Given the description of an element on the screen output the (x, y) to click on. 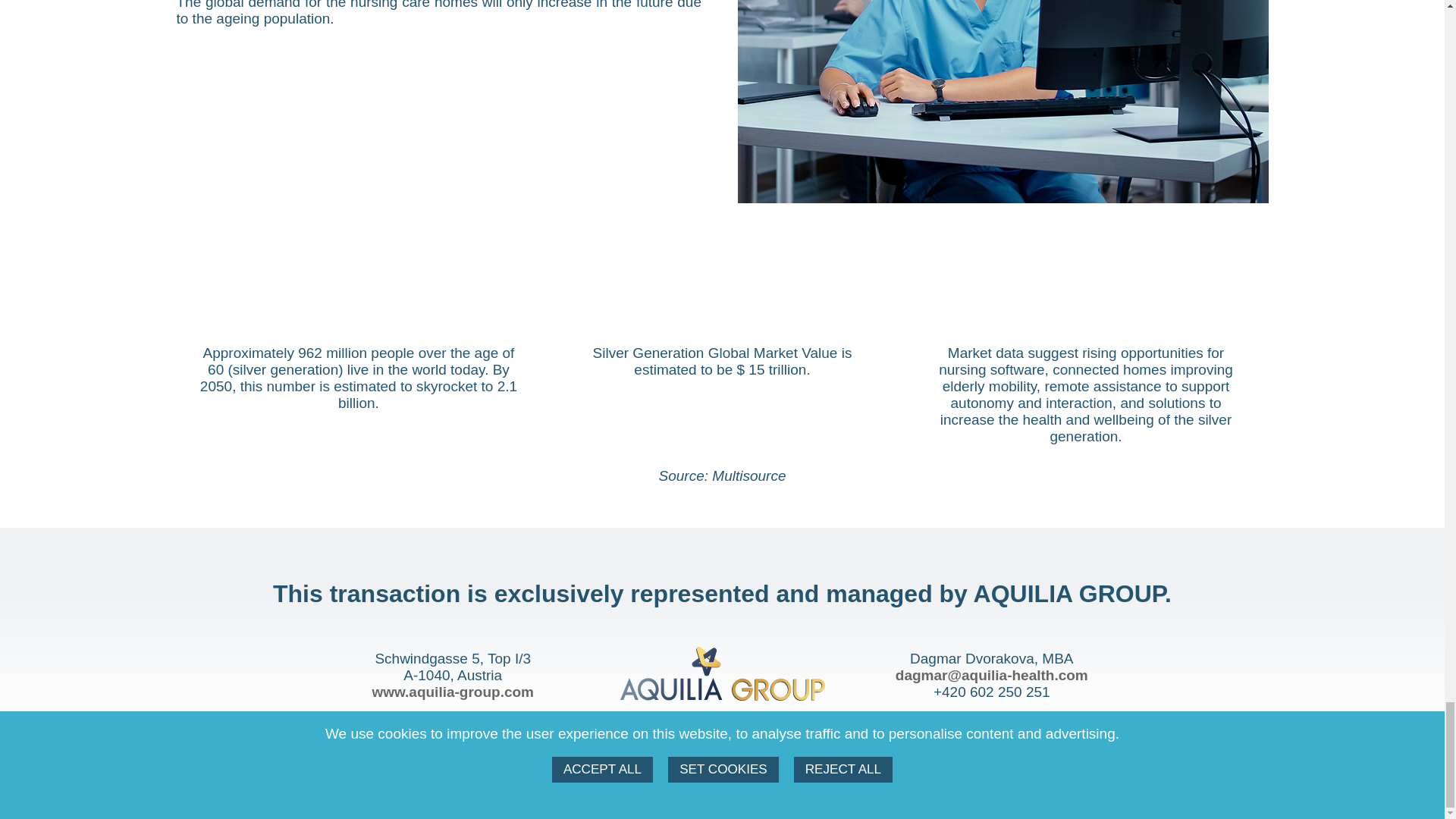
cookies (679, 782)
www.aquilia-group.com (452, 691)
legal notice (752, 782)
